Given the description of an element on the screen output the (x, y) to click on. 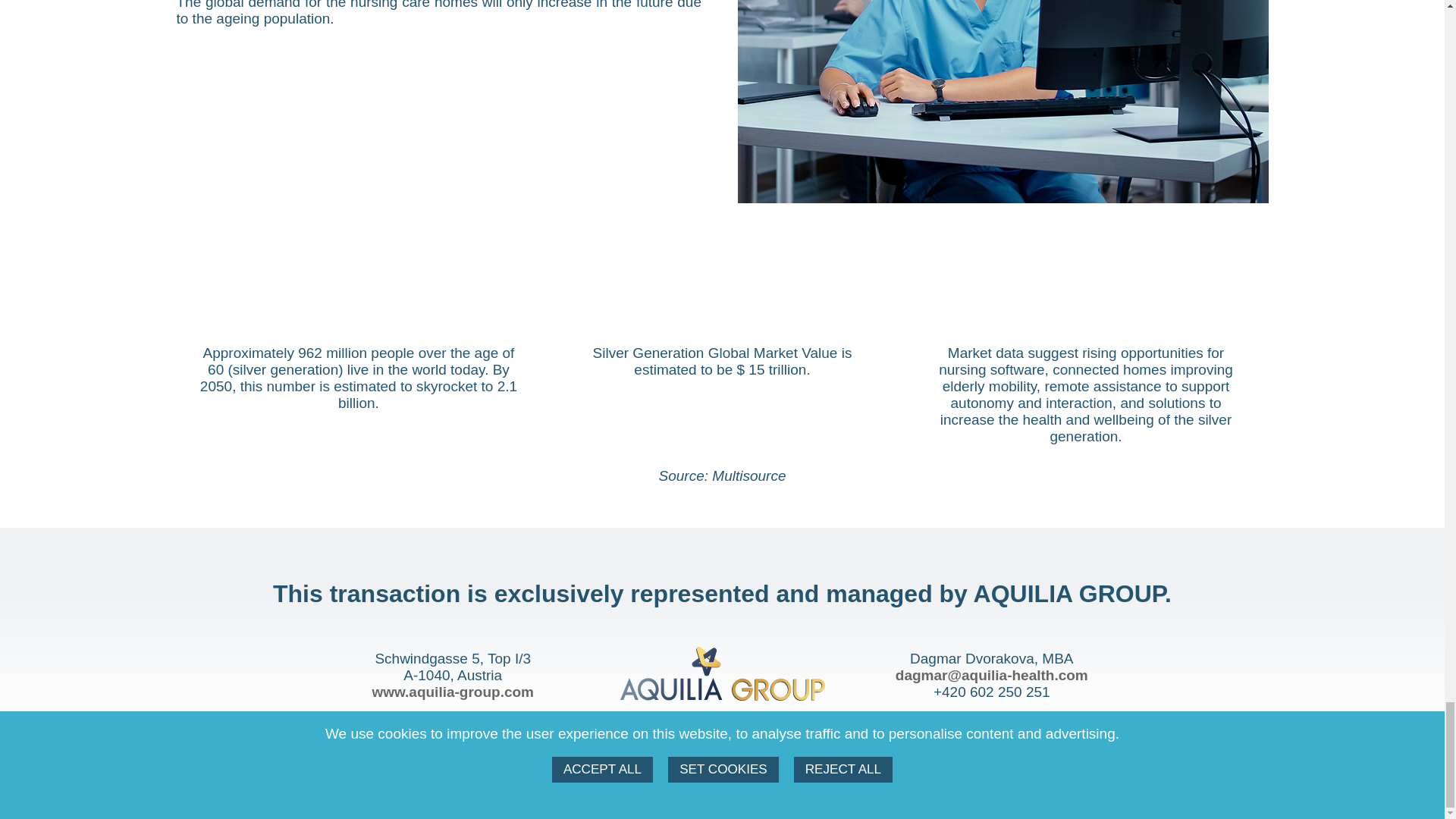
cookies (679, 782)
www.aquilia-group.com (452, 691)
legal notice (752, 782)
